Given the description of an element on the screen output the (x, y) to click on. 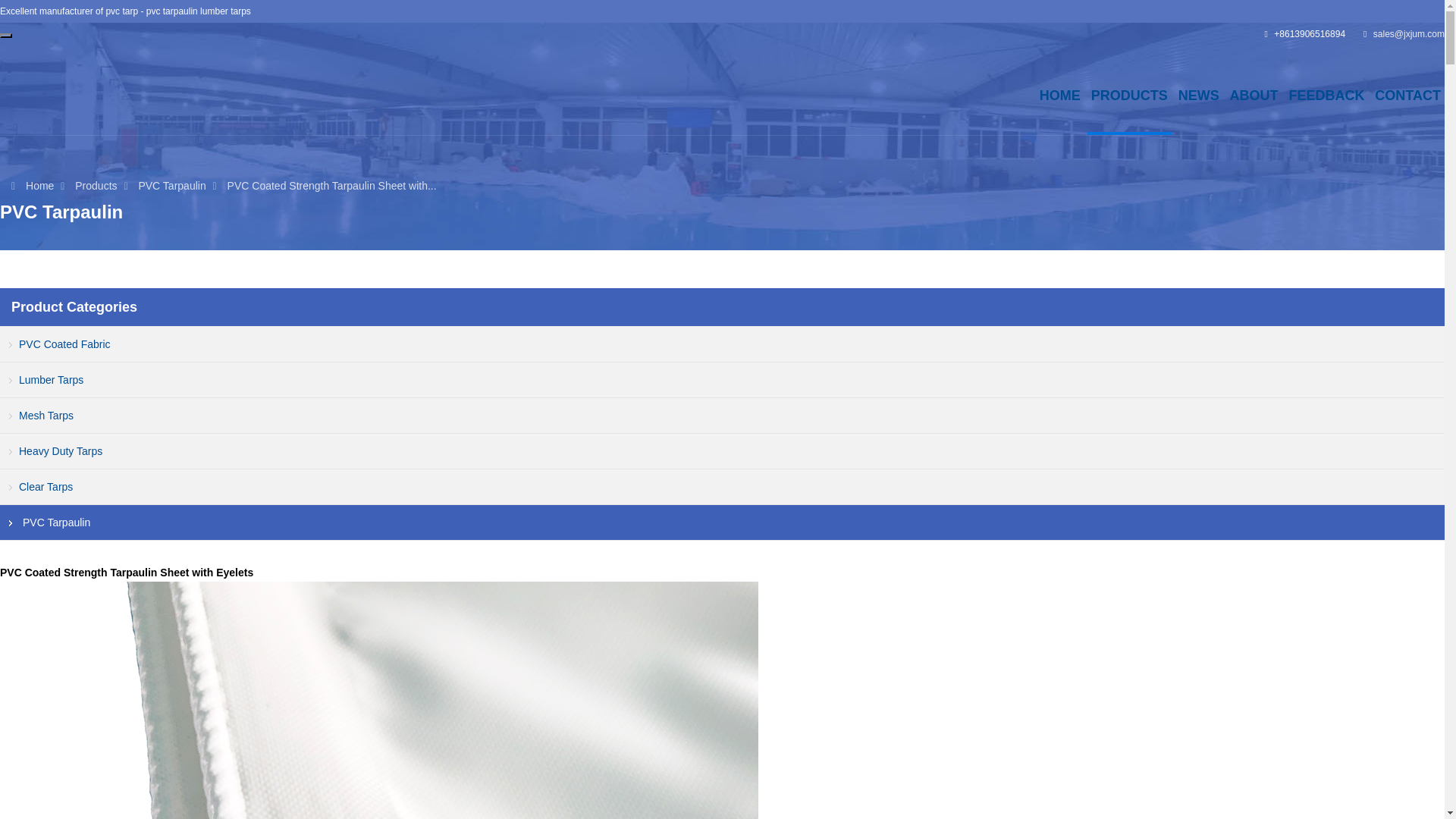
FEEDBACK (1326, 94)
Contact PVC tarp (1407, 94)
pvc Tarp,pvc Tarpaulin (39, 185)
PVC Tarpaulin (171, 185)
PRODUCTS (1128, 94)
Home (39, 185)
PVC Tarpaulin products (1128, 94)
PVC Coated Strength Tarpaulin Sheet with... (331, 185)
Products (95, 185)
PVC tarp feedback (1326, 94)
CONTACT (1407, 94)
Toggle navigation (5, 35)
